Given the description of an element on the screen output the (x, y) to click on. 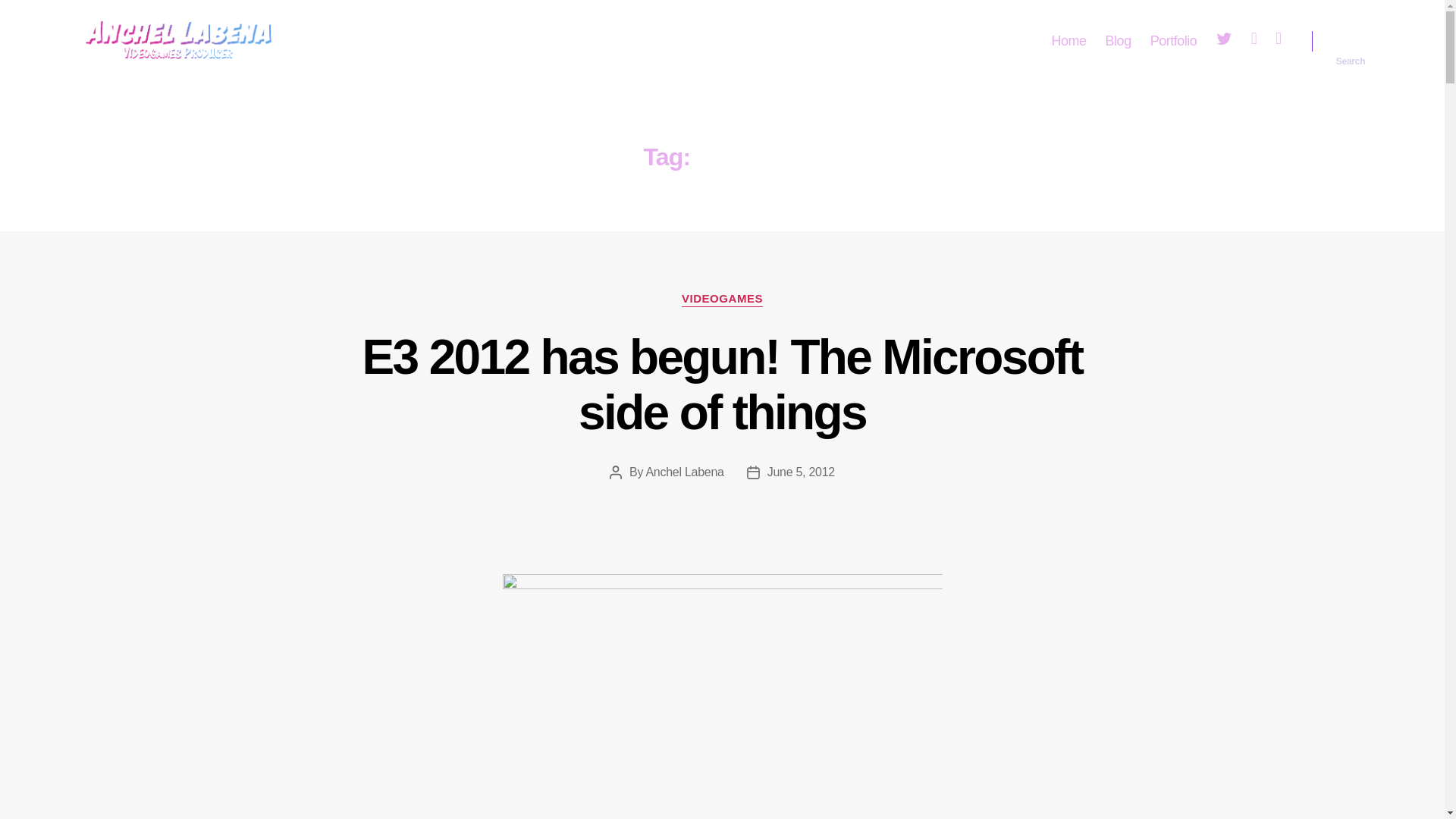
Home (1068, 41)
Blog (1118, 41)
VIDEOGAMES (721, 299)
Anchel Labena (684, 472)
e3 (722, 694)
Portfolio (1173, 41)
Search (1350, 40)
Twitter (1223, 41)
June 5, 2012 (800, 472)
E3 2012 has begun! The Microsoft side of things (722, 384)
